Given the description of an element on the screen output the (x, y) to click on. 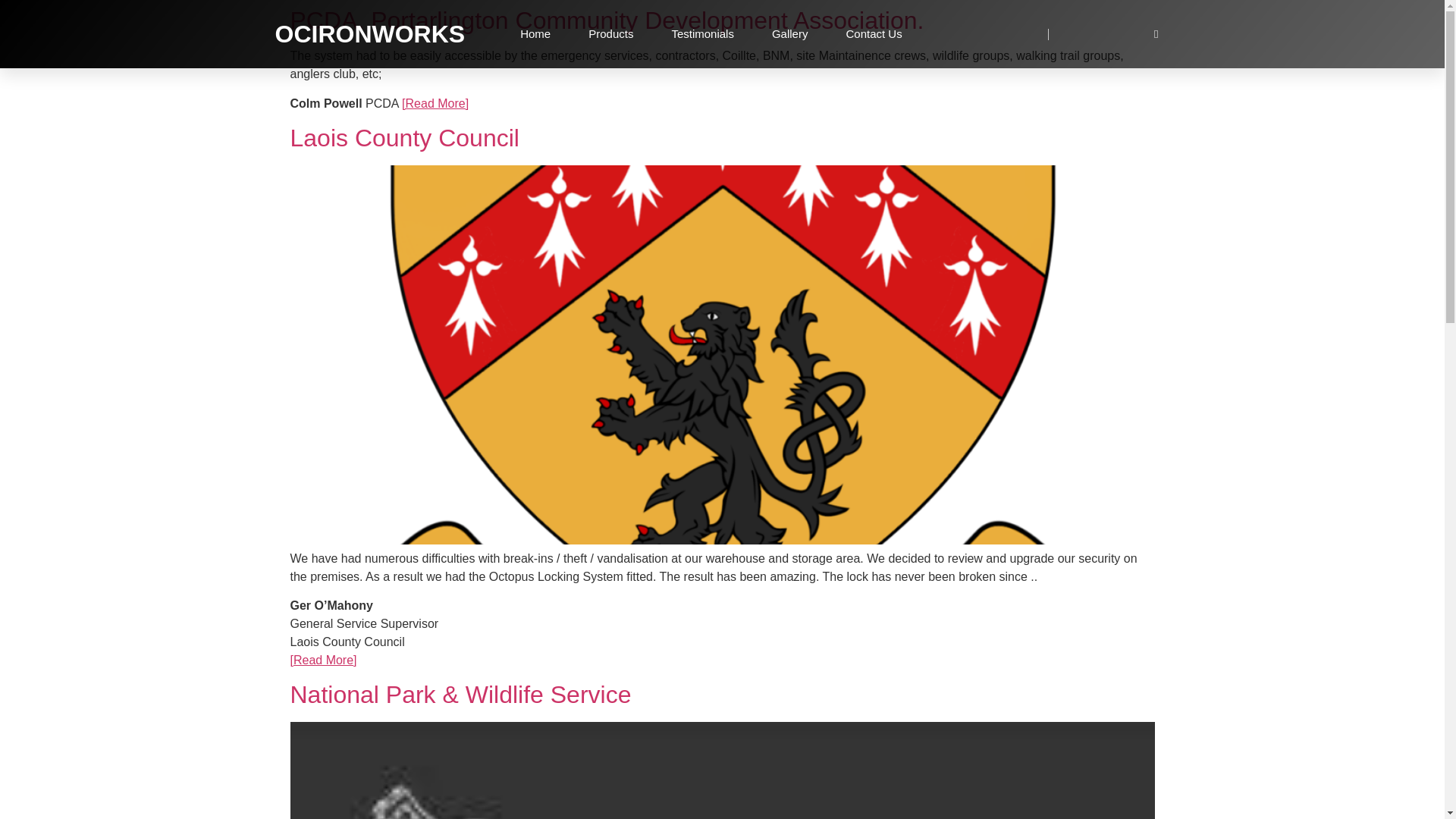
OCIRONWORKS (369, 33)
PCDA, Portarlington Community Development Association. (606, 20)
Laois County Council (403, 137)
Testimonials (702, 33)
